Given the description of an element on the screen output the (x, y) to click on. 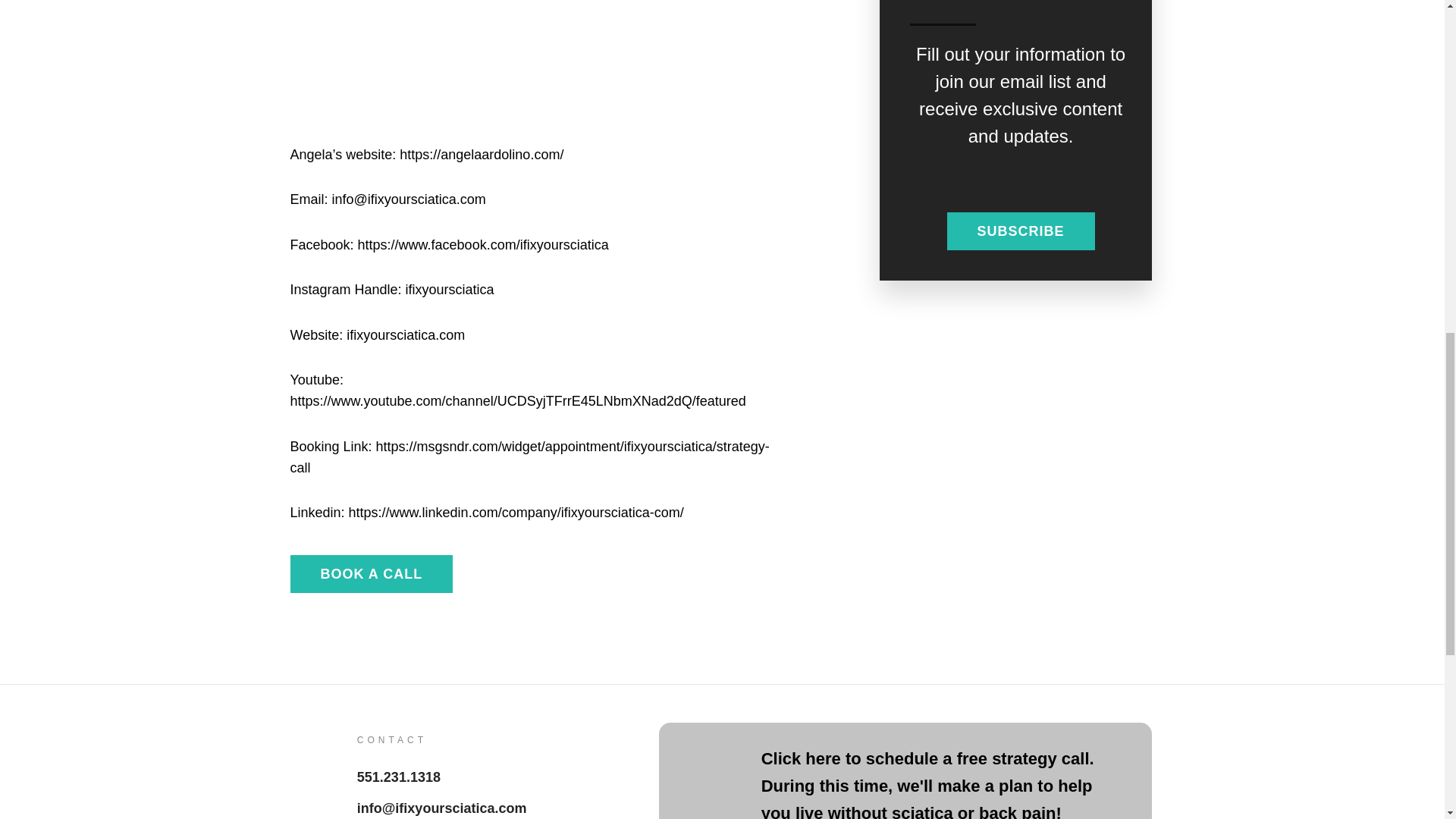
551.231.1318 (398, 776)
Plant-based Products and Pain Management (536, 71)
SUBSCRIBE (1020, 231)
BOOK A CALL (370, 573)
